Given the description of an element on the screen output the (x, y) to click on. 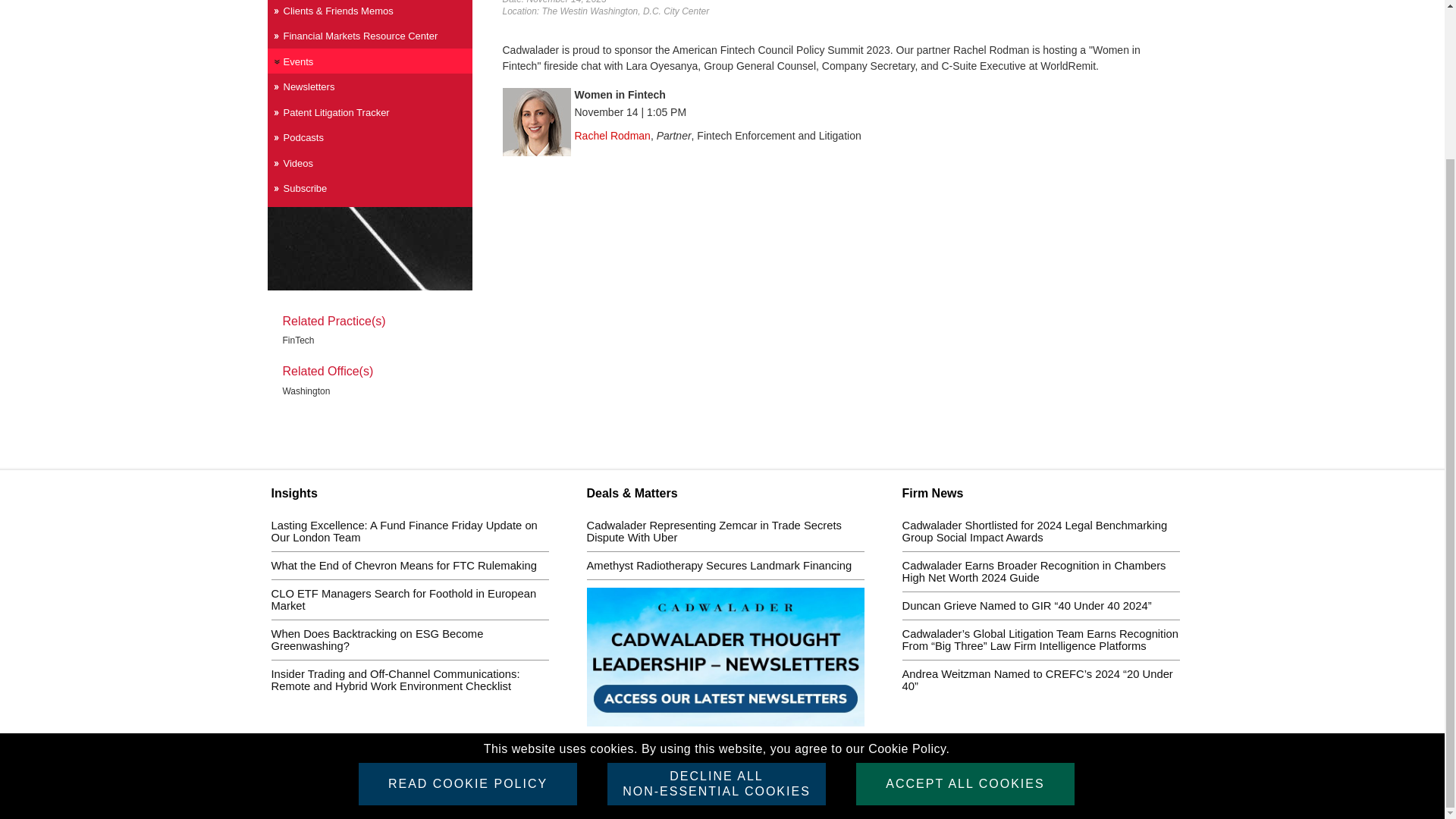
READ COOKIE POLICY (467, 596)
